Given the description of an element on the screen output the (x, y) to click on. 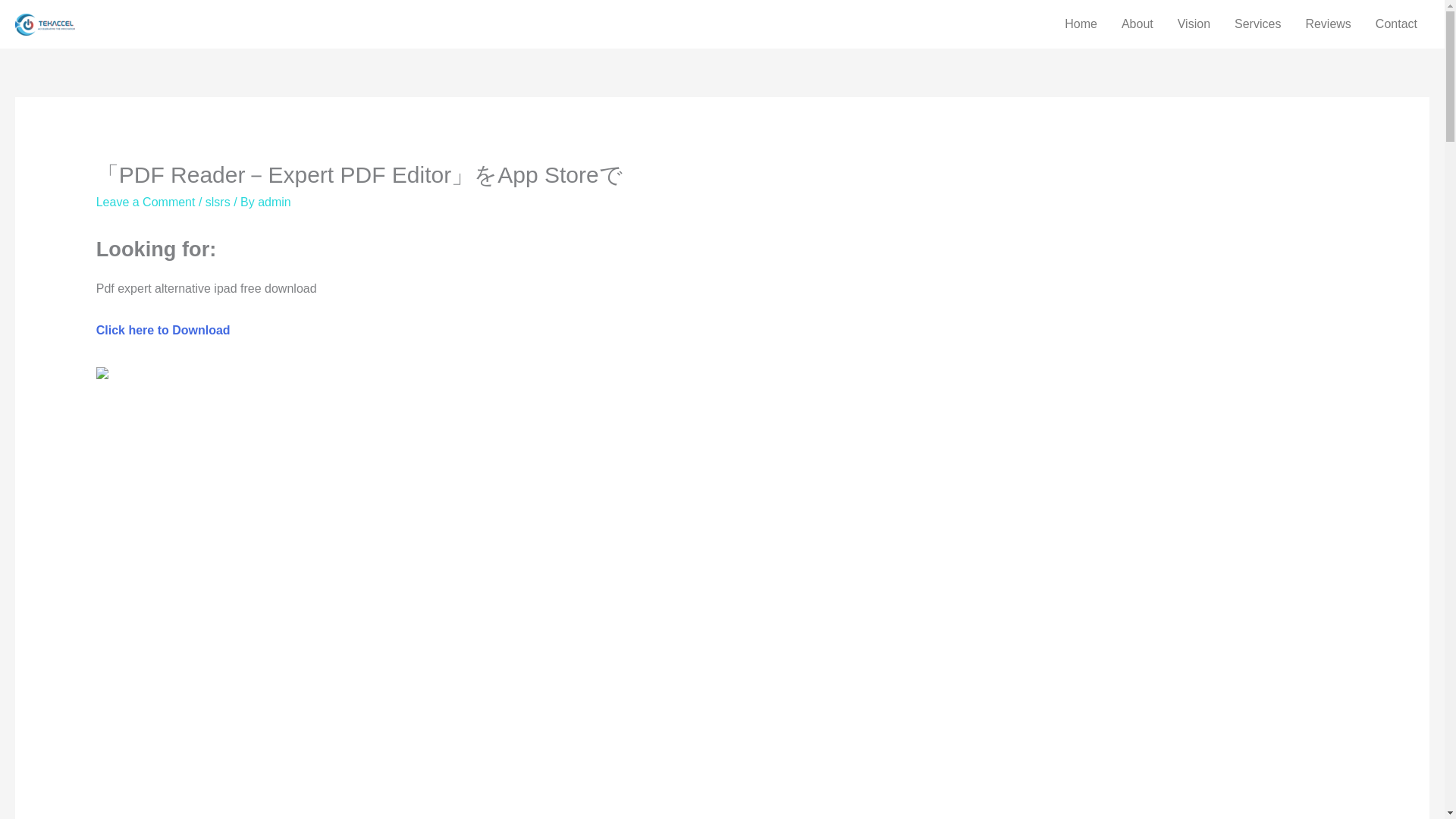
Services (1257, 24)
Home (1080, 24)
Contact (1395, 24)
admin (274, 201)
Vision (1194, 24)
Reviews (1327, 24)
Leave a Comment (145, 201)
About (1137, 24)
View all posts by admin (274, 201)
Click here to Download (163, 329)
